Given the description of an element on the screen output the (x, y) to click on. 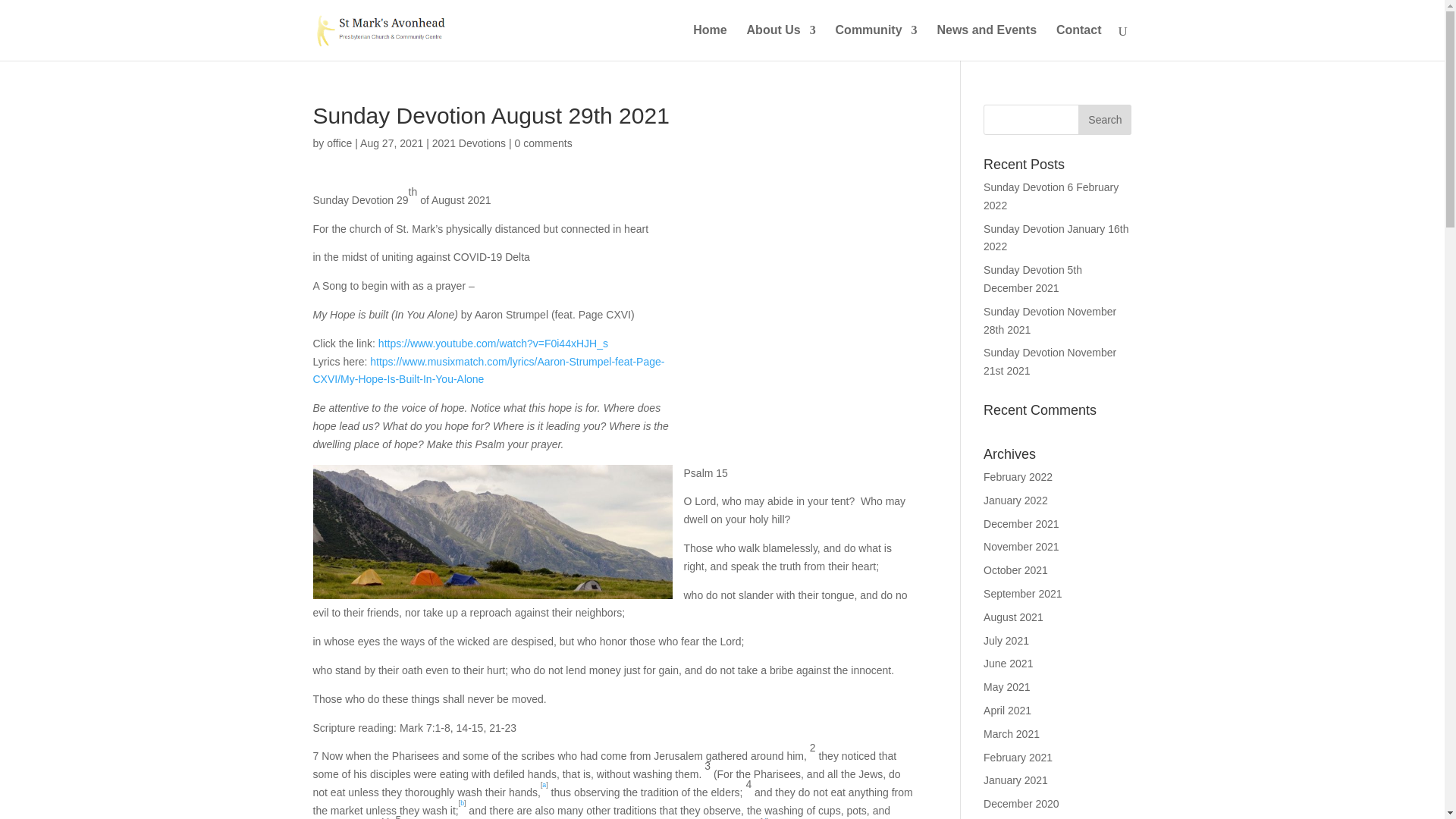
Sunday Devotion 5th December 2021 (1032, 278)
Sunday Devotion 6 February 2022 (1051, 195)
August 2021 (1013, 616)
Posts by office (339, 143)
Sunday Devotion November 28th 2021 (1050, 320)
February 2022 (1018, 476)
News and Events (986, 42)
About Us (780, 42)
Search (1104, 119)
January 2022 (1016, 500)
Contact (1079, 42)
office (339, 143)
2021 Devotions (468, 143)
